Given the description of an element on the screen output the (x, y) to click on. 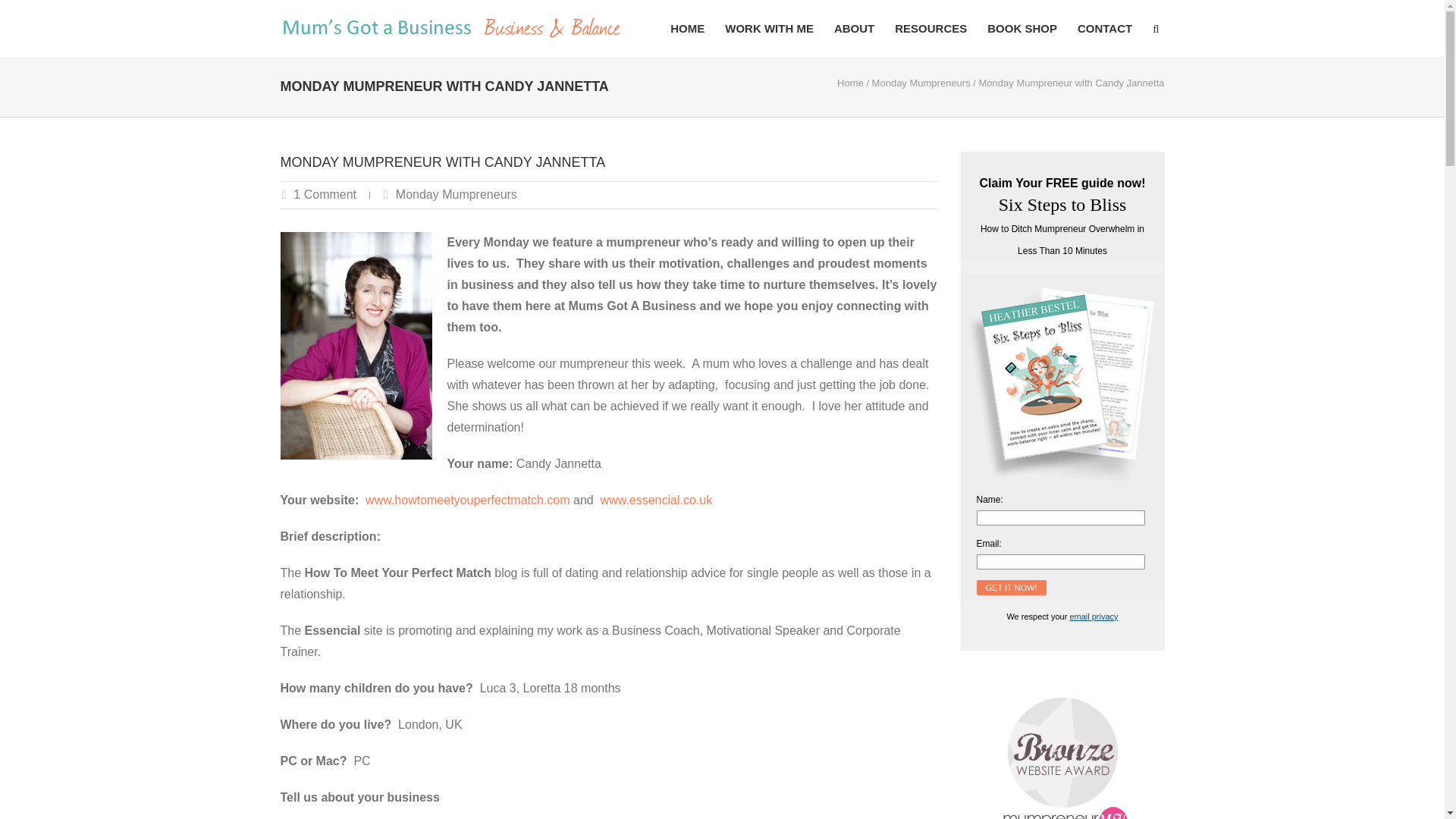
Monday Mumpreneurs (456, 194)
Monday Mumpreneurs (921, 82)
www.essencial.co.uk (656, 499)
WORK WITH ME (768, 28)
CONTACT (1104, 28)
1 Comment (325, 194)
BOOK SHOP (1022, 28)
Home (850, 82)
GET IT NOW! (1011, 587)
Privacy Policy (1093, 615)
RESOURCES (930, 28)
www.howtomeetyouperfectmatch.com (467, 499)
